Given the description of an element on the screen output the (x, y) to click on. 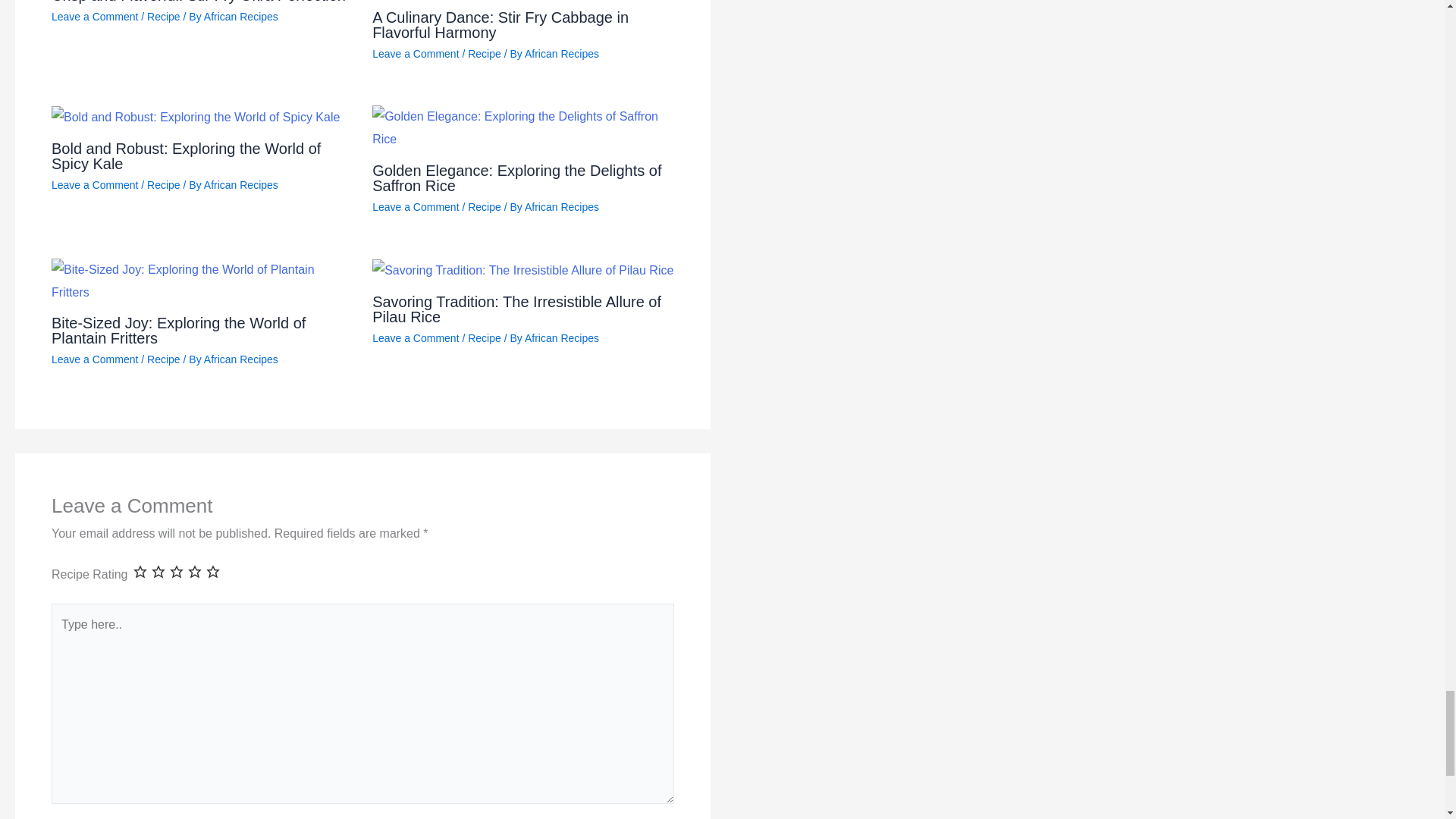
View all posts by African Recipes (561, 206)
View all posts by African Recipes (240, 16)
View all posts by African Recipes (561, 337)
View all posts by African Recipes (240, 184)
View all posts by African Recipes (240, 358)
View all posts by African Recipes (561, 53)
